Given the description of an element on the screen output the (x, y) to click on. 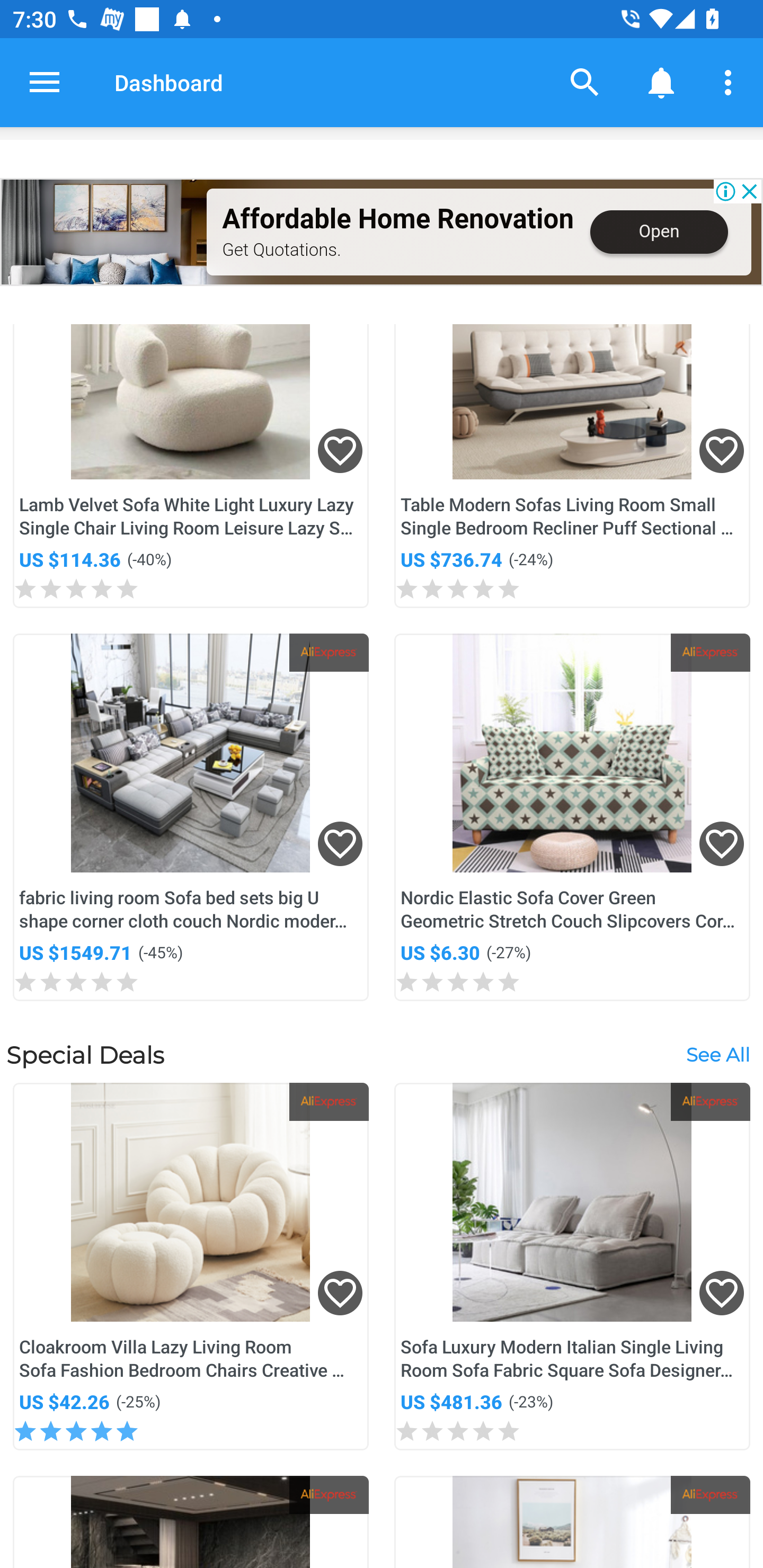
Open navigation drawer (44, 82)
Search (585, 81)
More options (731, 81)
free-quote (104, 231)
Affordable Home Renovation (397, 219)
Open (658, 232)
Get Quotations. (281, 249)
See All (717, 1054)
